Given the description of an element on the screen output the (x, y) to click on. 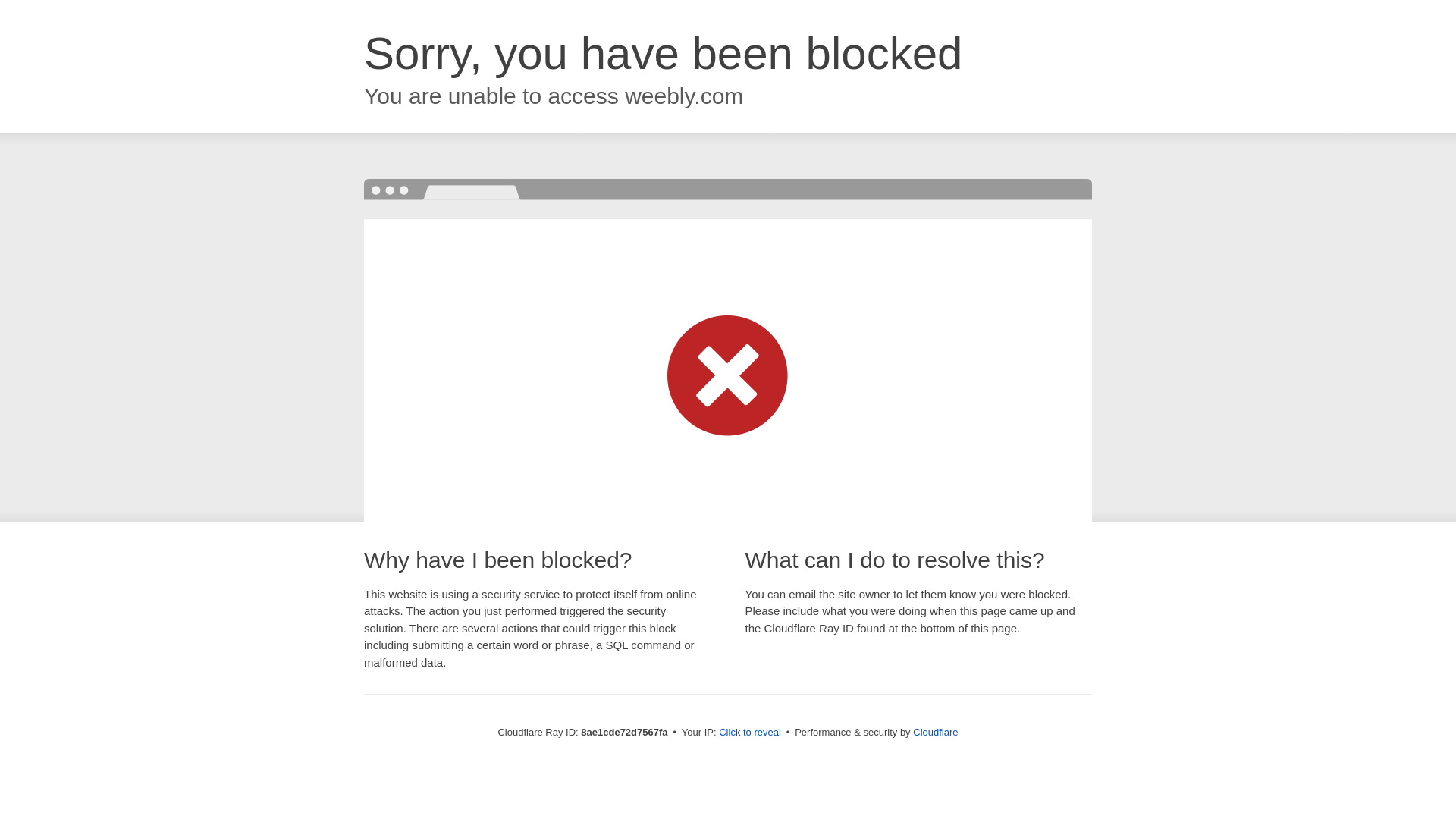
Cloudflare (935, 731)
Click to reveal (749, 732)
